Given the description of an element on the screen output the (x, y) to click on. 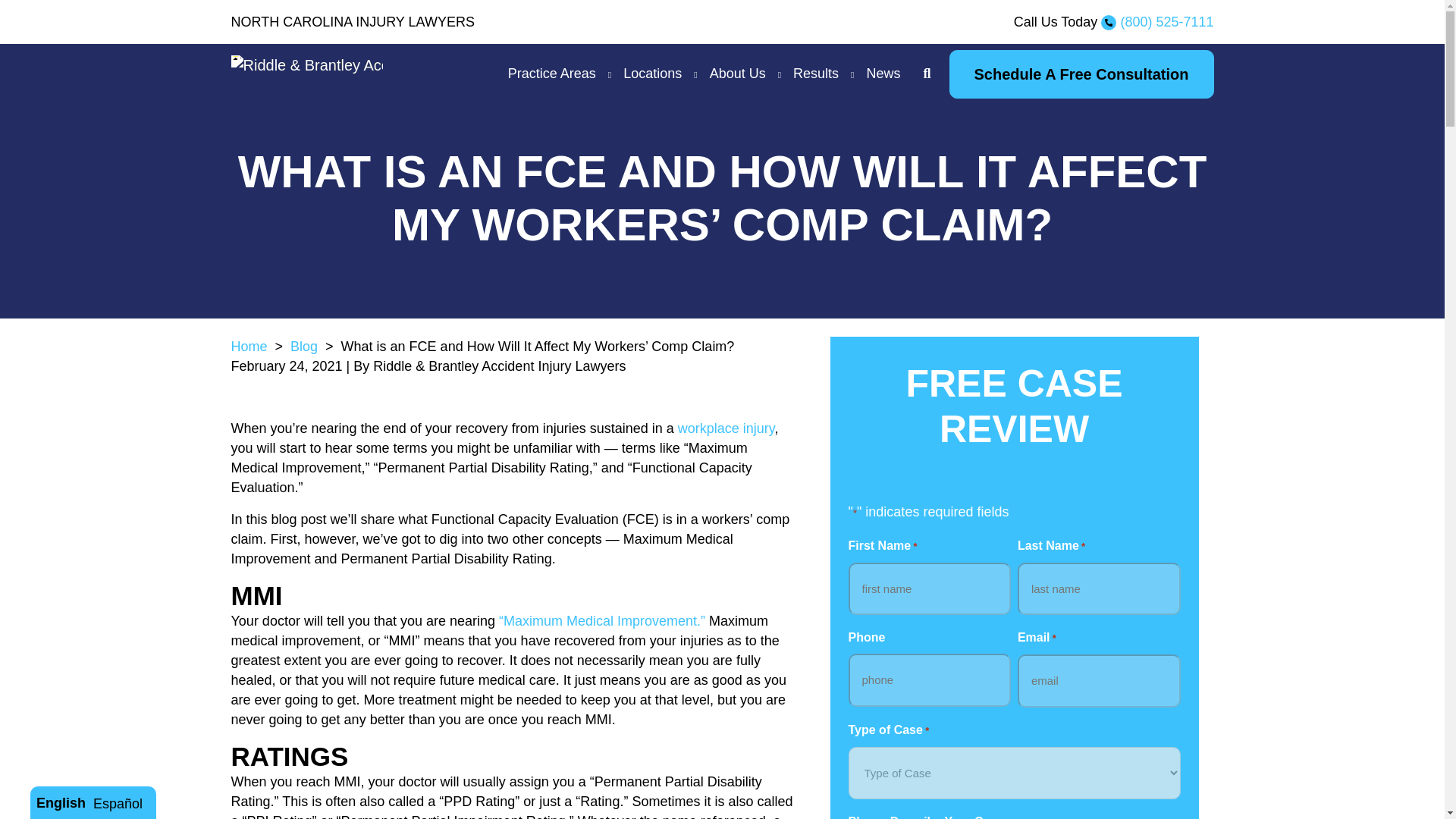
Practice Areas (552, 73)
Locations (652, 73)
Practice Areas (552, 73)
